Given the description of an element on the screen output the (x, y) to click on. 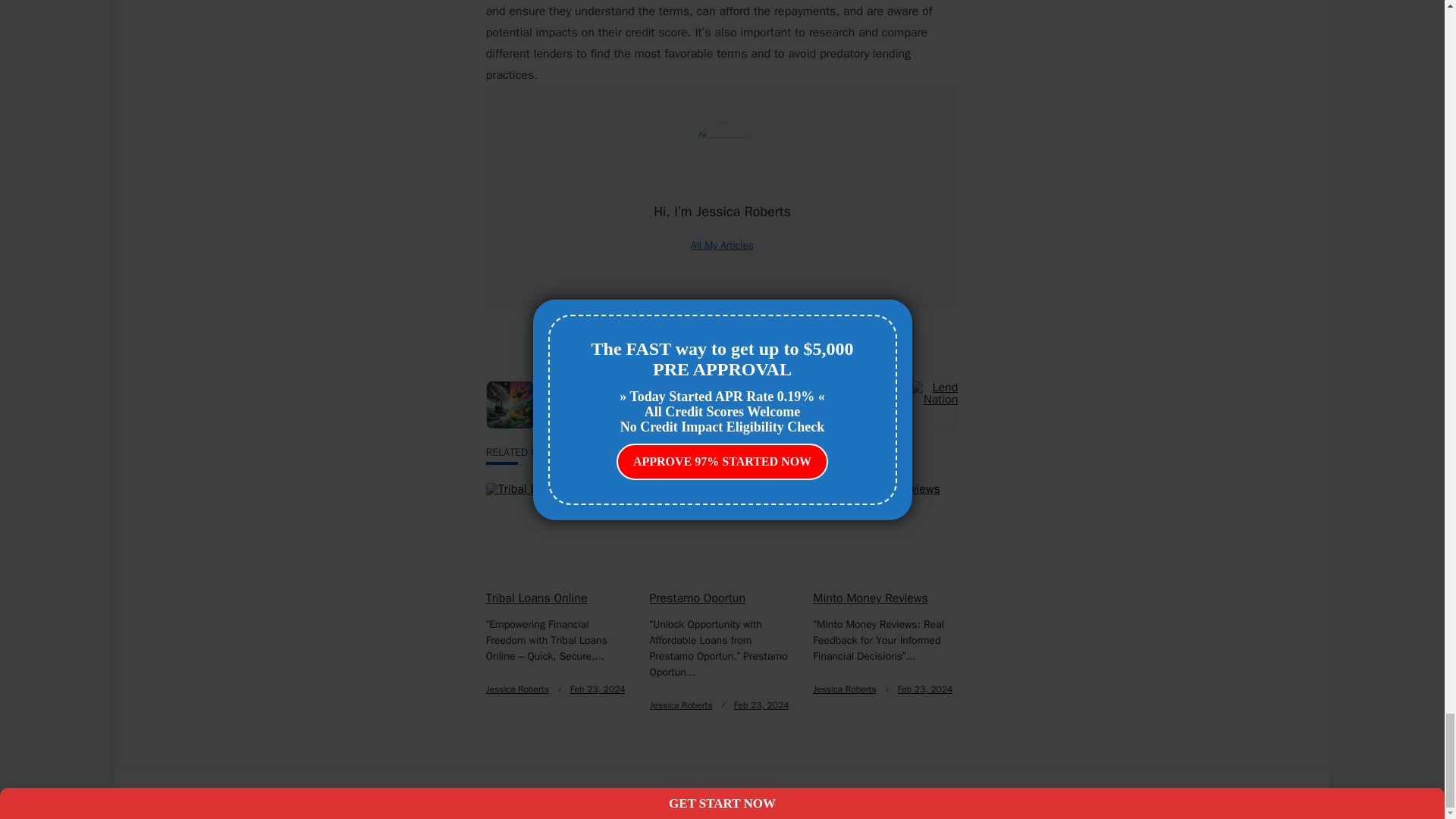
Jessica Roberts (844, 689)
Kenta Writer Hub (536, 792)
Feb 23, 2024 (925, 689)
Jessica Roberts (517, 689)
Feb 23, 2024 (761, 705)
All My Articles (722, 245)
Prestamo Oportun (697, 598)
WP Moose (615, 792)
Tribal Loans Online (537, 598)
Feb 23, 2024 (598, 689)
Jessica Roberts (681, 705)
Minto Money Reviews (869, 598)
